Given the description of an element on the screen output the (x, y) to click on. 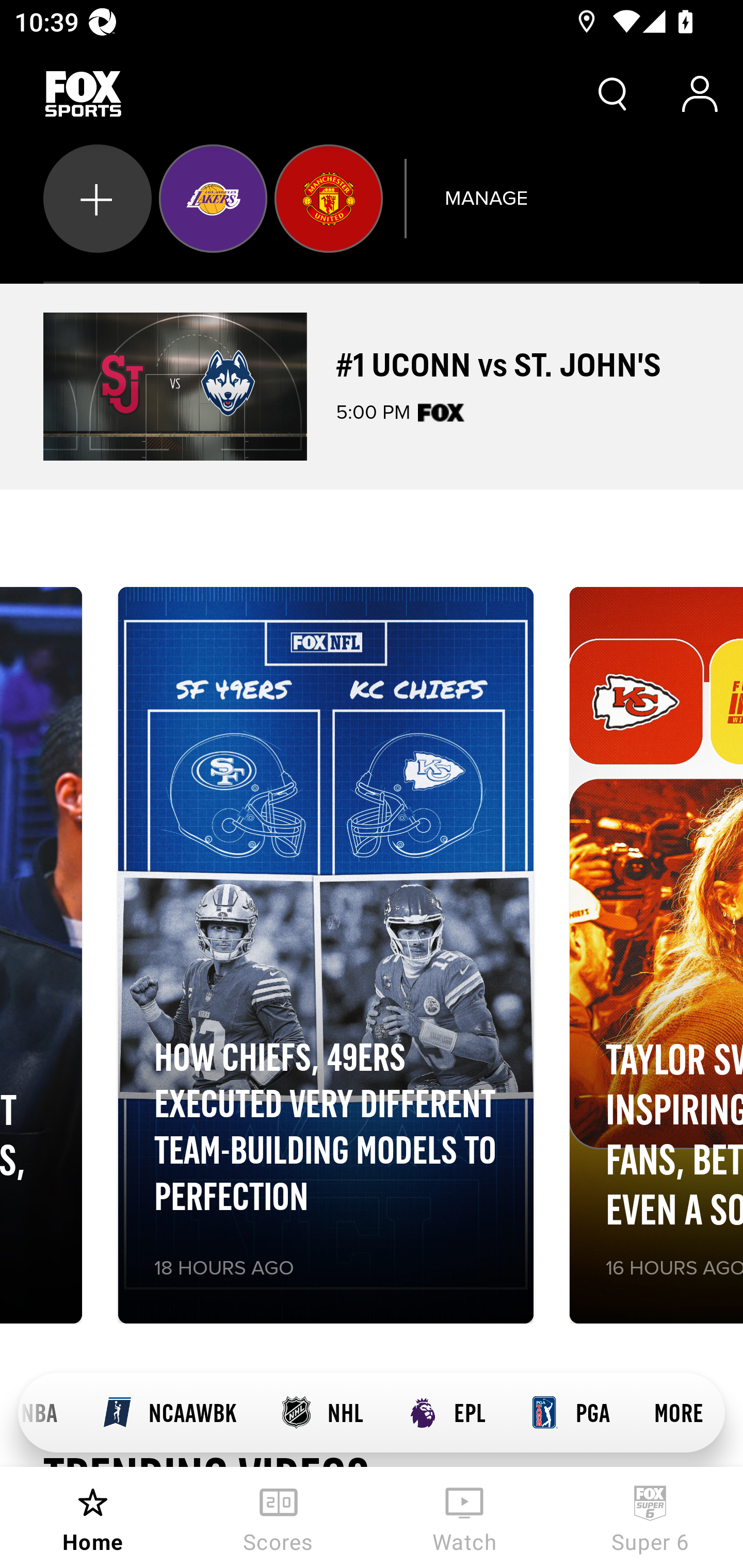
Search (612, 93)
Account (699, 93)
MANAGE (485, 198)
#1 UCONN vs ST. JOHN'S 5:00 PM (371, 386)
NCAAWBK (168, 1412)
NHL (321, 1412)
EPL (445, 1412)
PGA (569, 1412)
MORE (678, 1412)
Scores (278, 1517)
Watch (464, 1517)
Super 6 (650, 1517)
